Given the description of an element on the screen output the (x, y) to click on. 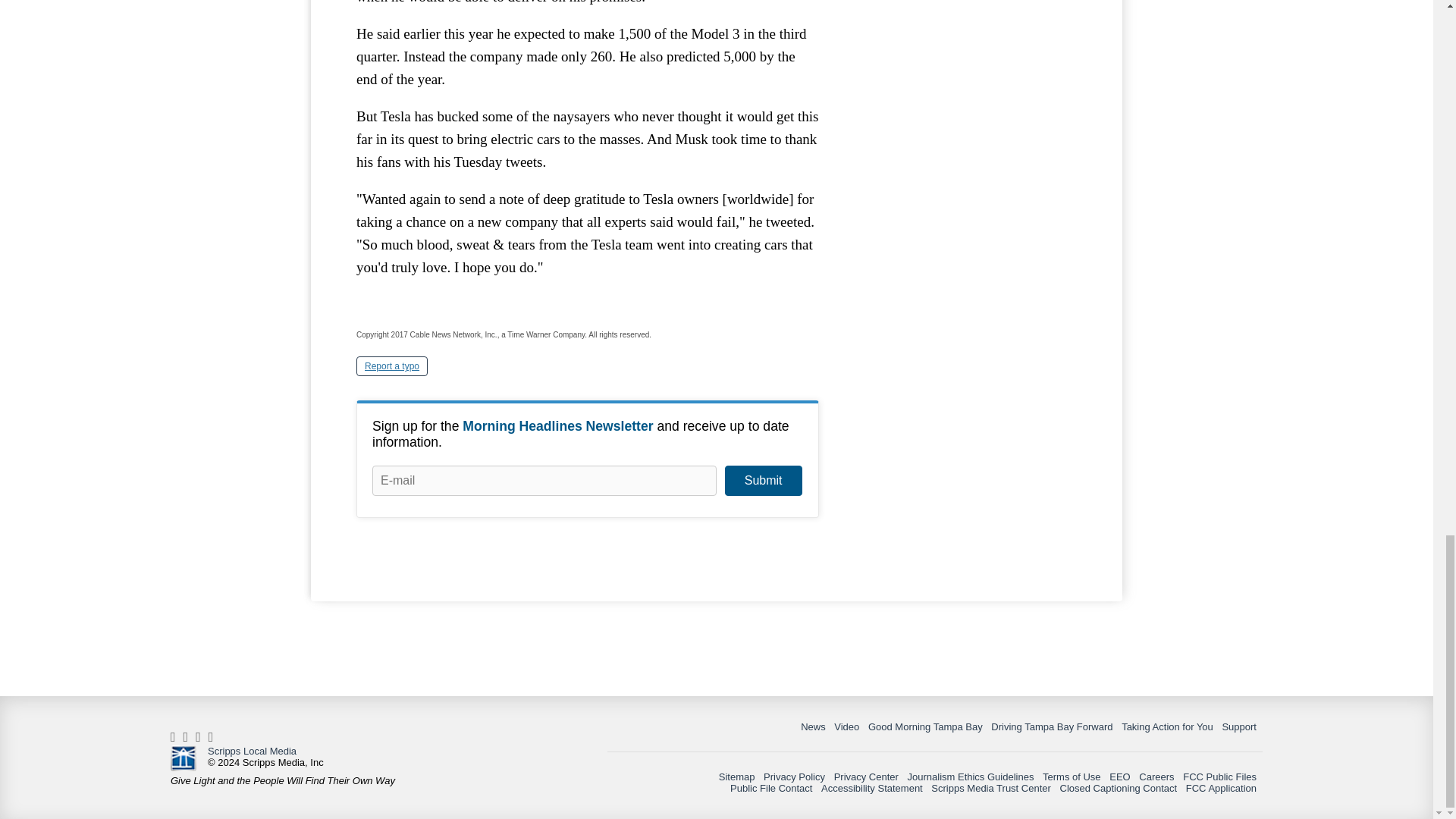
Submit (763, 481)
